Given the description of an element on the screen output the (x, y) to click on. 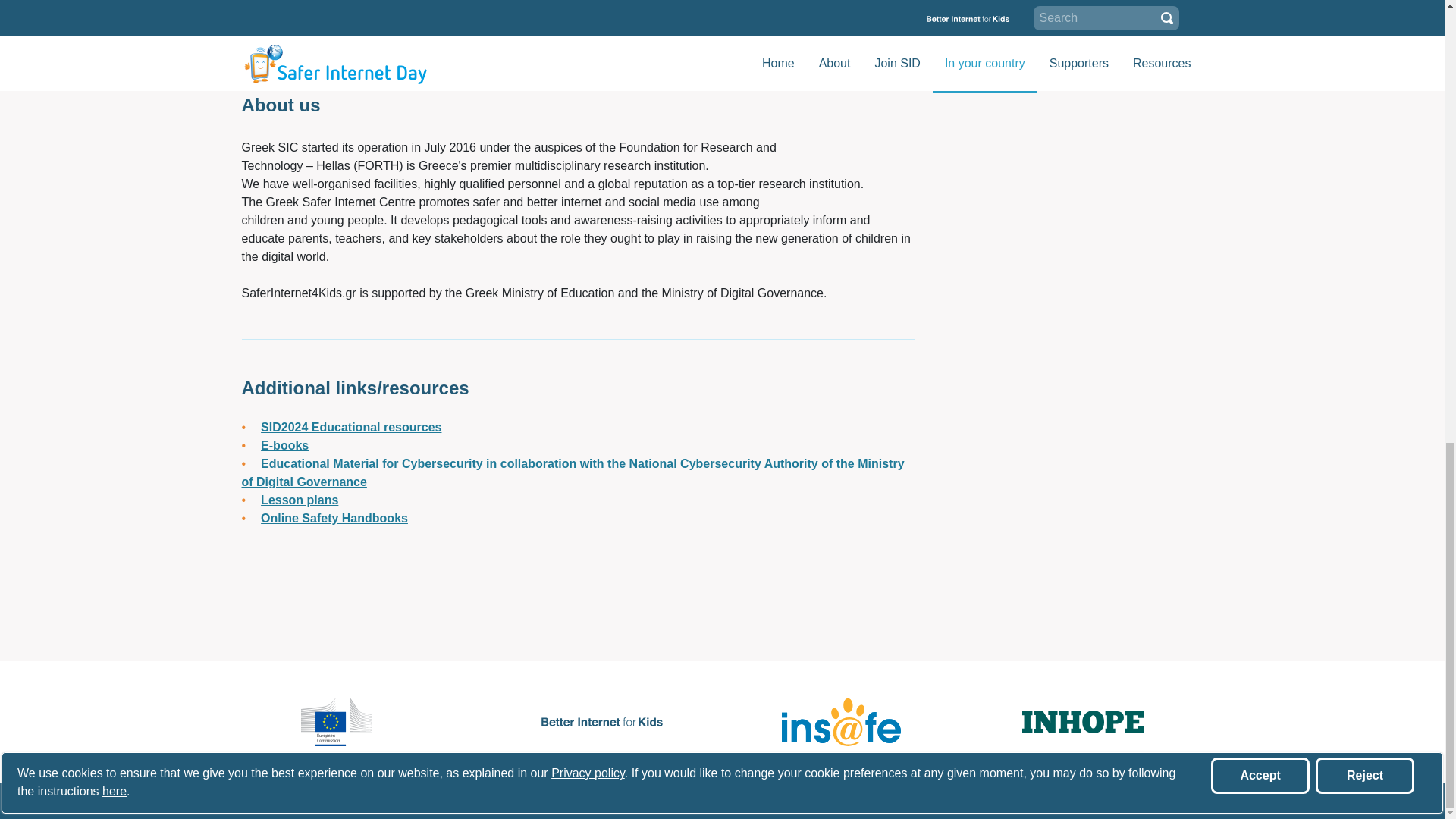
Contact (347, 800)
Legal notices (441, 800)
SID2024 Educational resources (350, 427)
Privacy policy (551, 800)
Lesson plans (298, 499)
Accessibility (658, 800)
Online Safety Handbooks (333, 517)
About us (274, 800)
